Given the description of an element on the screen output the (x, y) to click on. 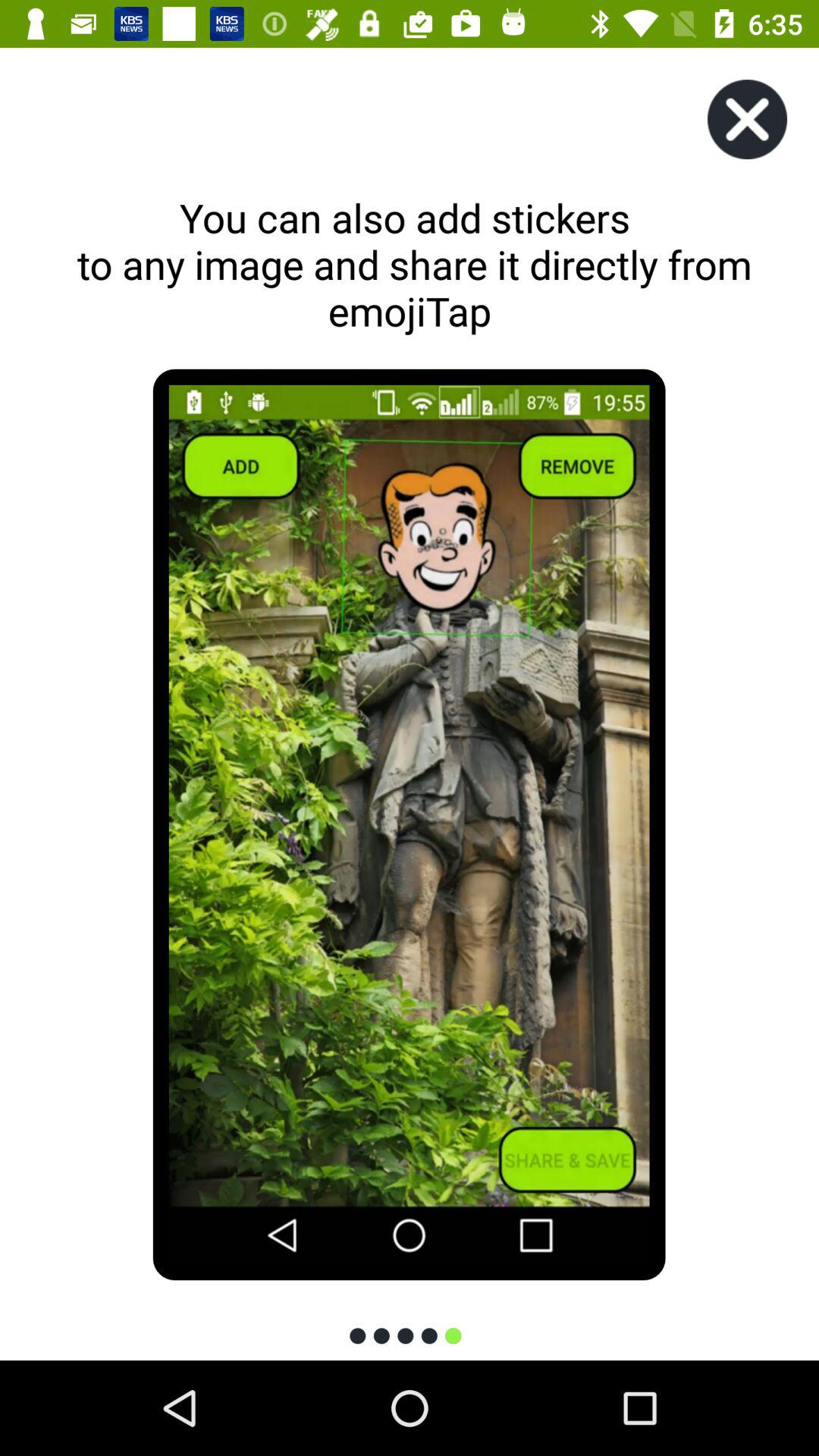
turn off the icon at the top right corner (747, 119)
